Given the description of an element on the screen output the (x, y) to click on. 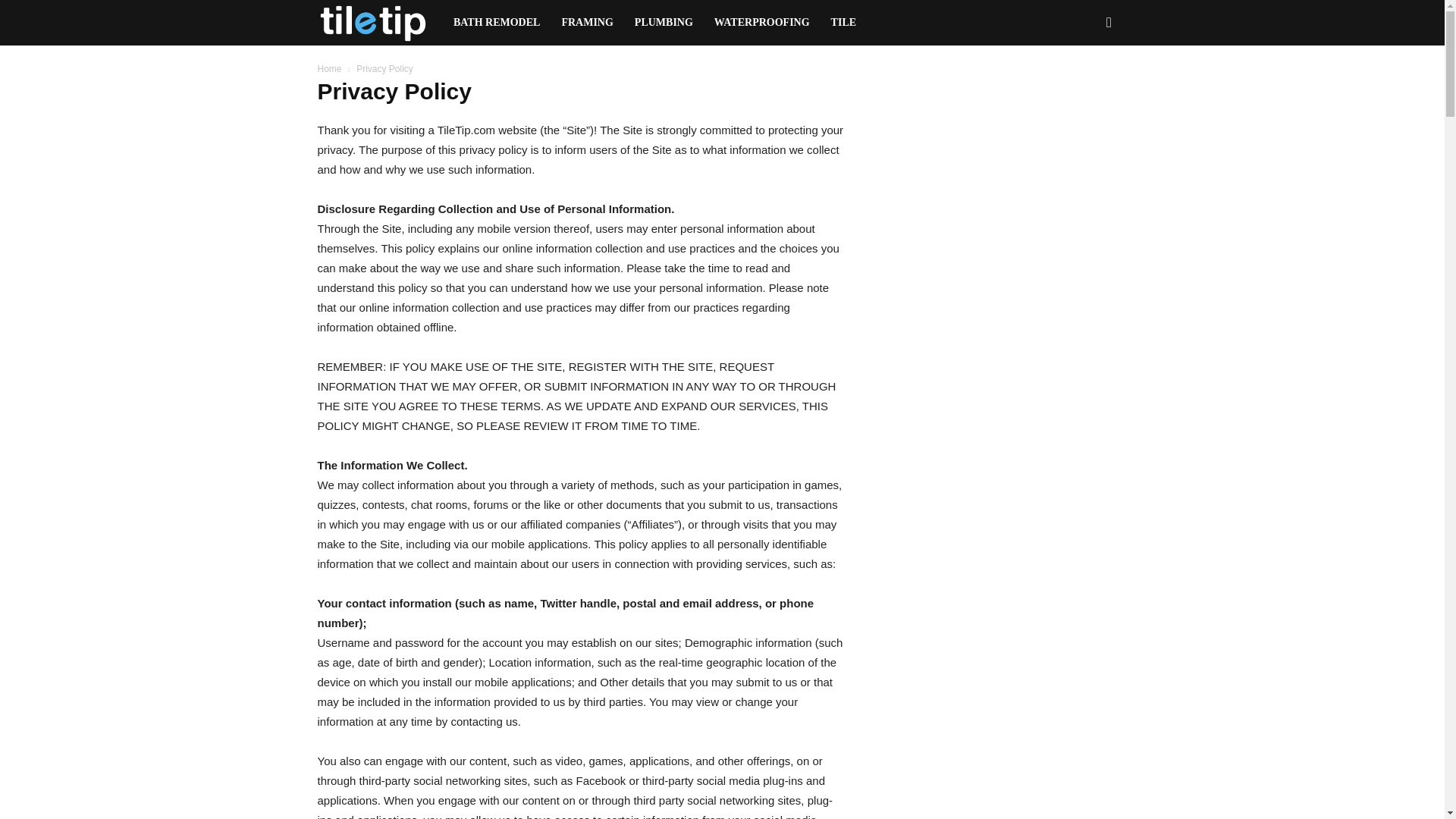
WATERPROOFING (762, 22)
TileTip.com (379, 22)
FRAMING (586, 22)
Search (1085, 87)
Home (328, 68)
BATH REMODEL (496, 22)
PLUMBING (663, 22)
TILE (843, 22)
